Given the description of an element on the screen output the (x, y) to click on. 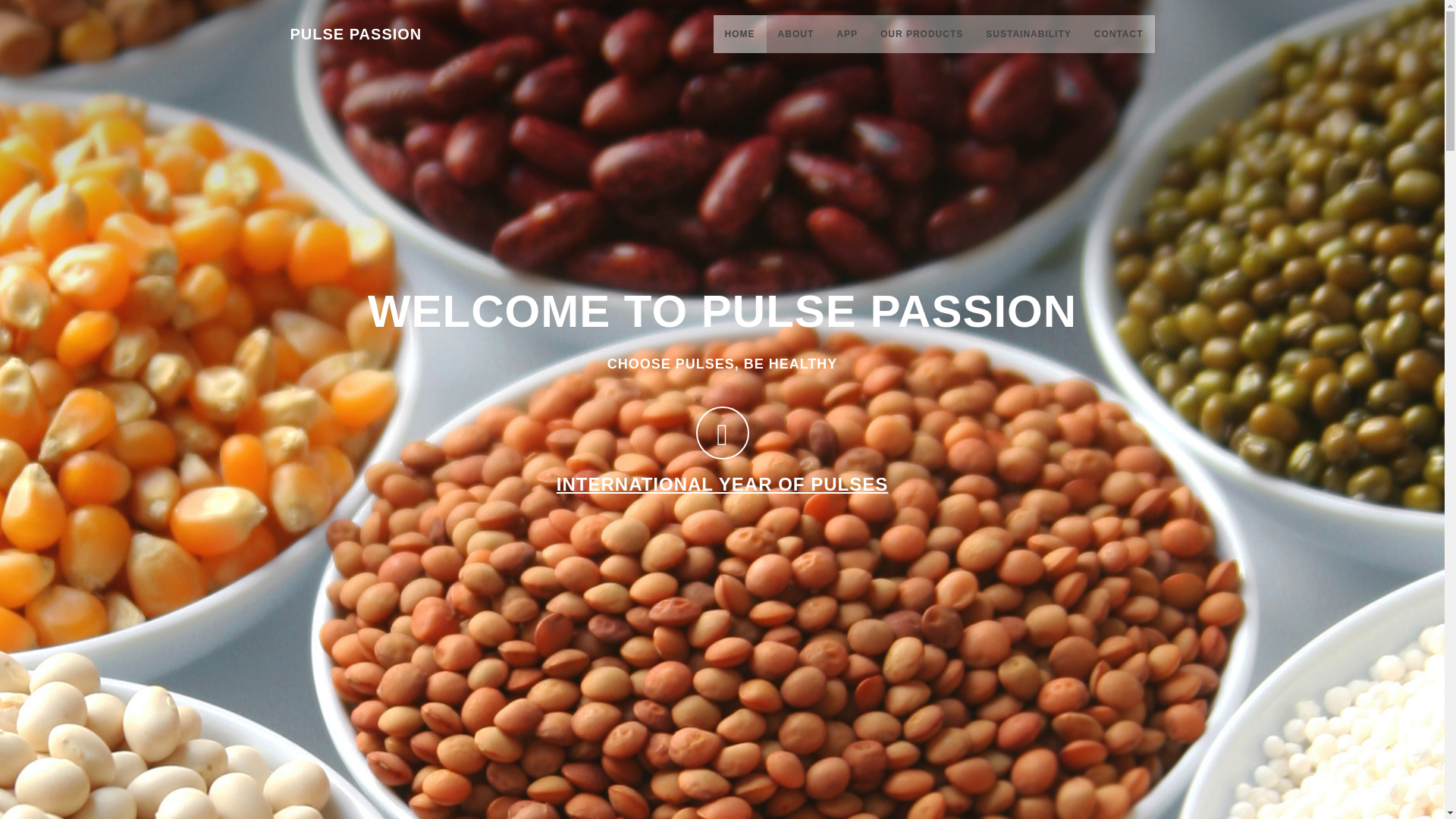
OUR PRODUCTS (921, 34)
INTERNATIONAL YEAR OF PULSES (722, 484)
SUSTAINABILITY (1027, 34)
CONTACT (1118, 34)
HOME (740, 34)
PULSE PASSION (360, 30)
APP (847, 34)
PULSE PASSION (356, 30)
ABOUT (796, 34)
